Given the description of an element on the screen output the (x, y) to click on. 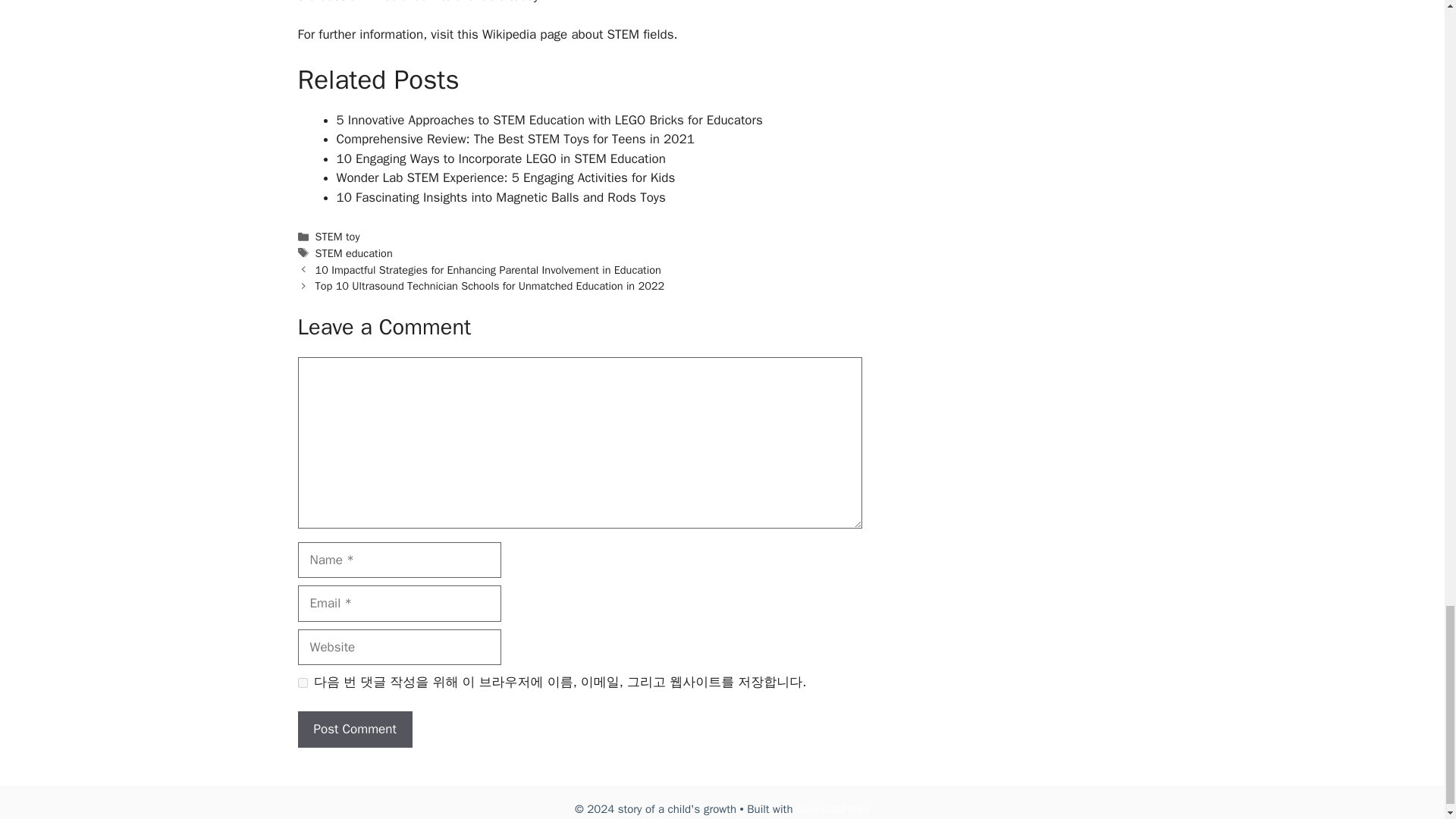
Comprehensive Review: The Best STEM Toys for Teens in 2021 (515, 139)
Wikipedia page (524, 34)
yes (302, 682)
STEM toy (337, 236)
10 Fascinating Insights into Magnetic Balls and Rods Toys (500, 197)
Wonder Lab STEM Experience: 5 Engaging Activities for Kids (505, 177)
Post Comment (354, 729)
Post Comment (354, 729)
STEM education (354, 253)
10 Engaging Ways to Incorporate LEGO in STEM Education (500, 158)
